Given the description of an element on the screen output the (x, y) to click on. 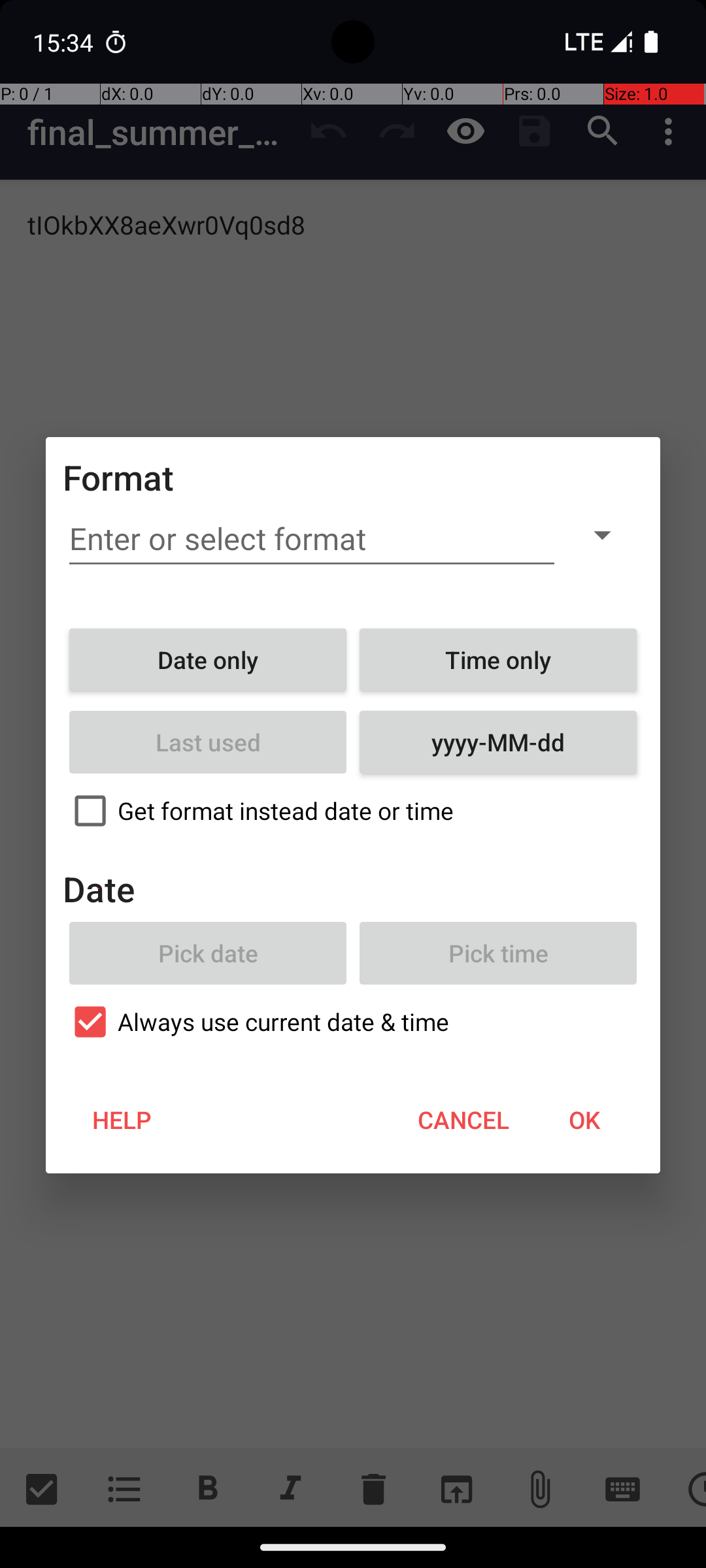
Enter or select format Element type: android.widget.EditText (311, 538)
